Given the description of an element on the screen output the (x, y) to click on. 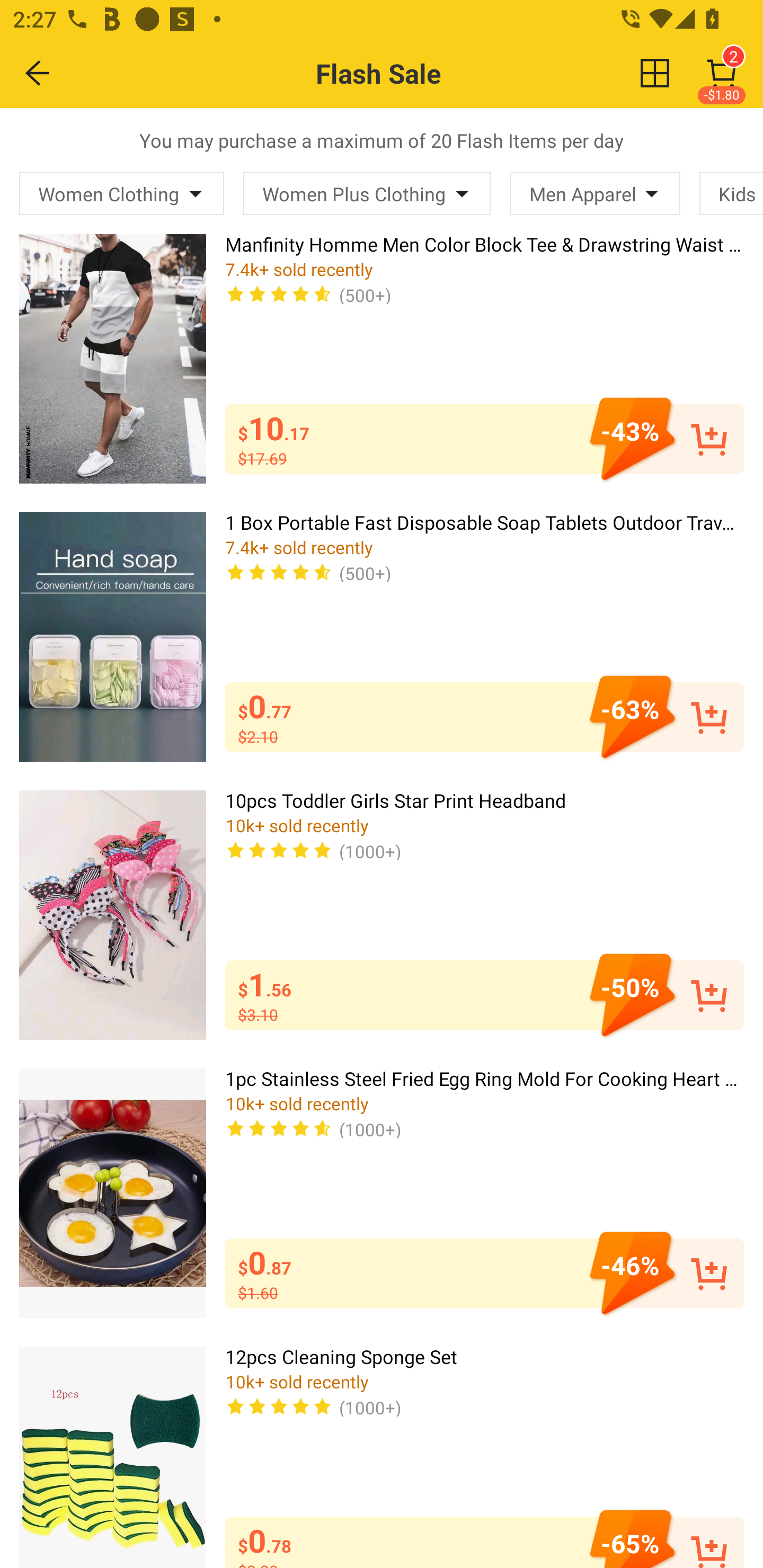
Flash Sale change view 2 -$1.80 (419, 72)
2 -$1.80 (721, 72)
change view (654, 72)
BACK (38, 72)
Women Clothing (121, 193)
Women Plus Clothing (366, 193)
Men Apparel (594, 193)
Kids (731, 193)
10pcs Toddler Girls Star Print Headband (112, 914)
12pcs Cleaning Sponge Set (112, 1457)
